Given the description of an element on the screen output the (x, y) to click on. 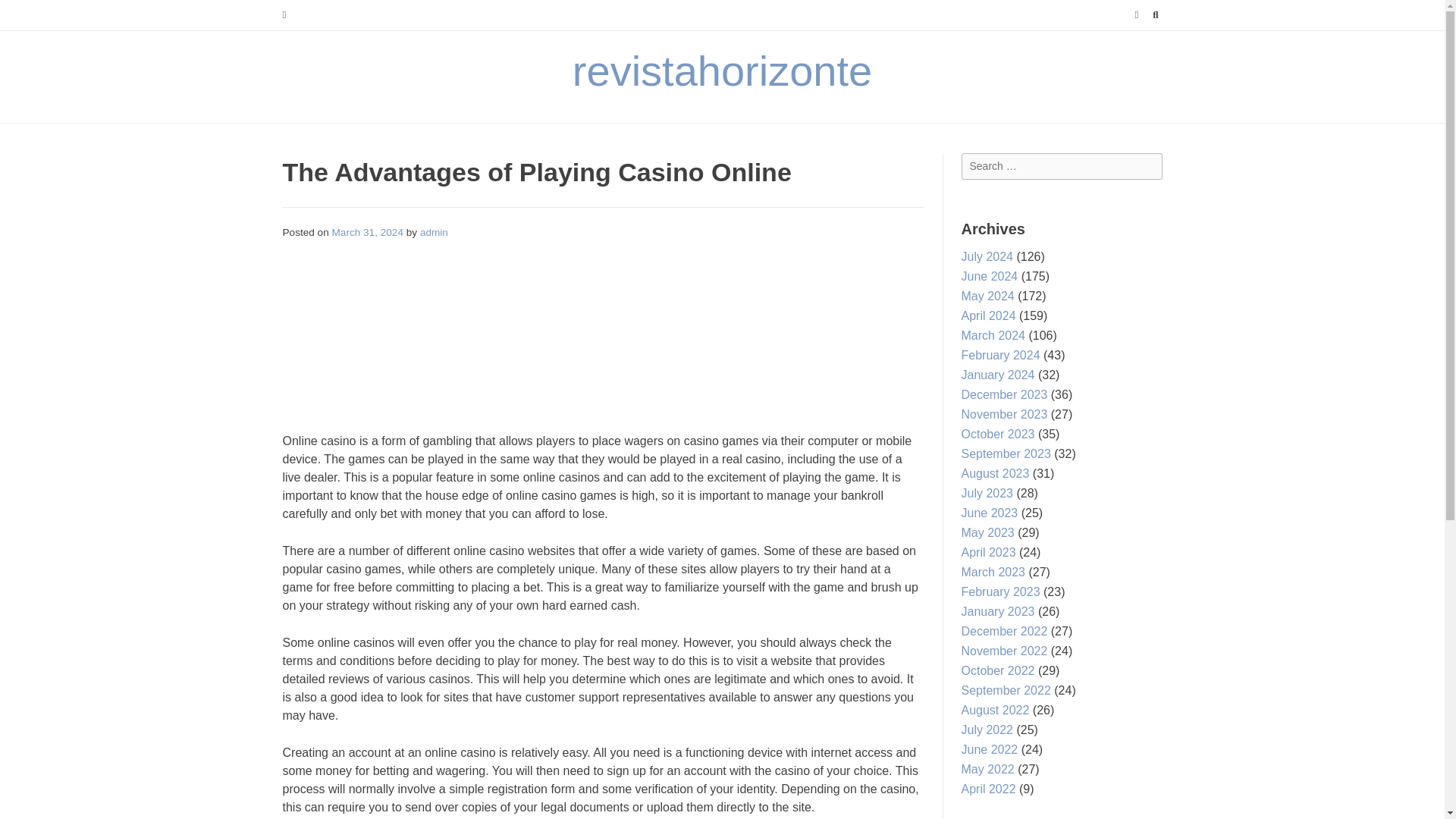
October 2022 (997, 670)
April 2024 (988, 315)
December 2022 (1004, 631)
March 2023 (993, 571)
June 2023 (988, 512)
admin (434, 232)
October 2023 (997, 433)
August 2022 (994, 709)
July 2023 (986, 492)
Search (27, 13)
May 2022 (987, 768)
February 2024 (1000, 354)
January 2023 (997, 611)
revistahorizonte (722, 70)
April 2022 (988, 788)
